Given the description of an element on the screen output the (x, y) to click on. 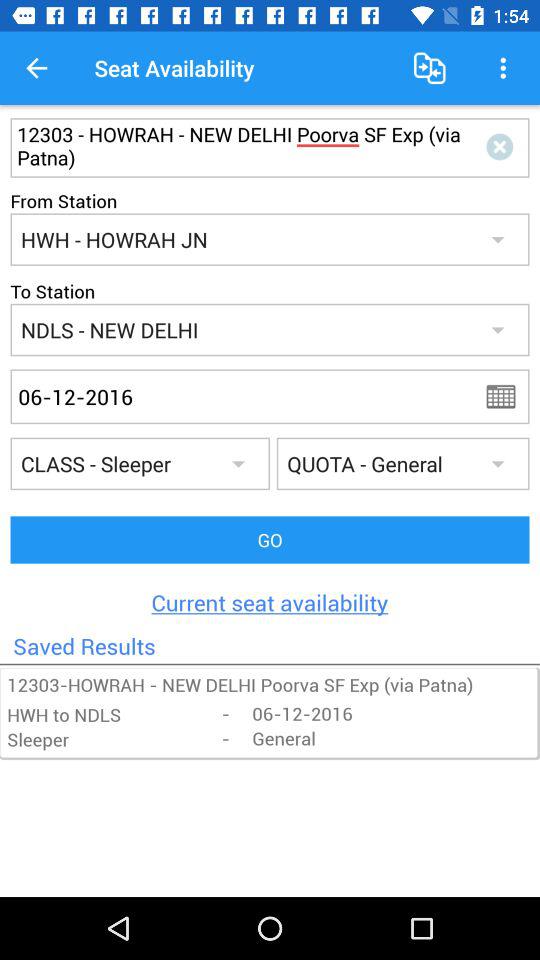
go to cancel (503, 147)
